Given the description of an element on the screen output the (x, y) to click on. 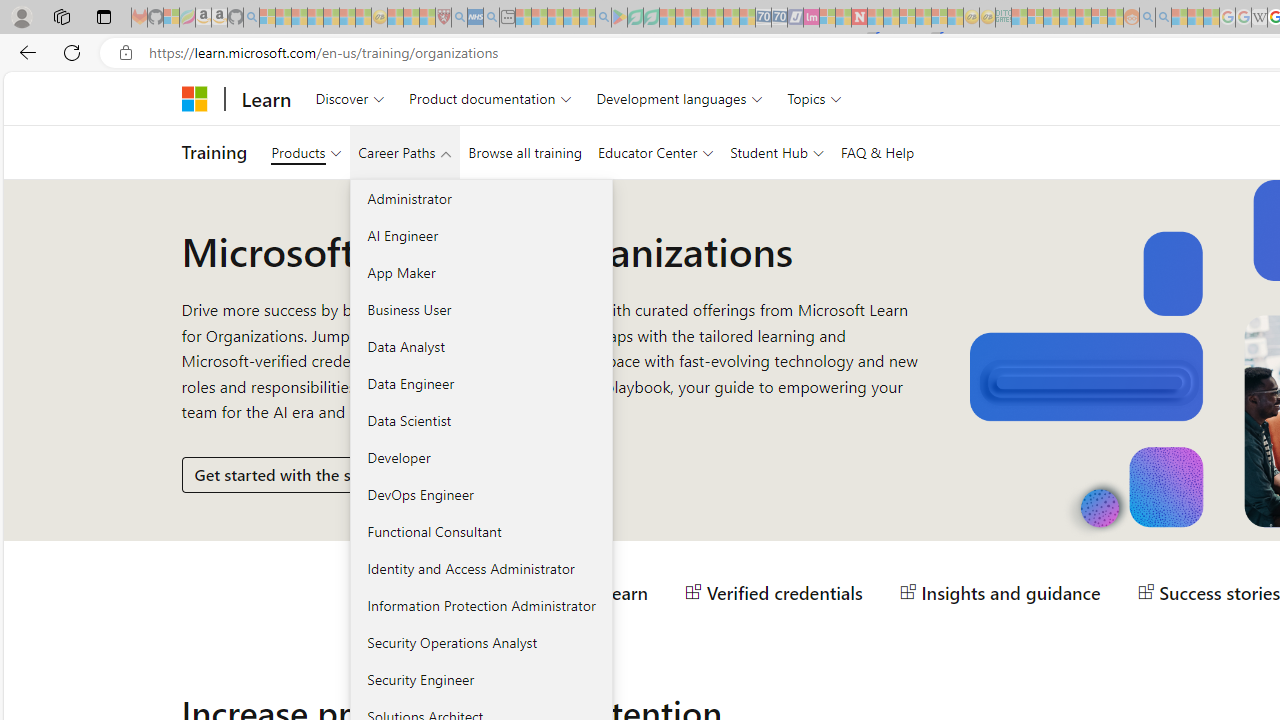
AI Engineer (480, 235)
Verified credentials (773, 592)
Data Engineer (480, 383)
Educator Center (655, 152)
Development languages (679, 98)
Business User (480, 309)
Development languages (679, 98)
